Given the description of an element on the screen output the (x, y) to click on. 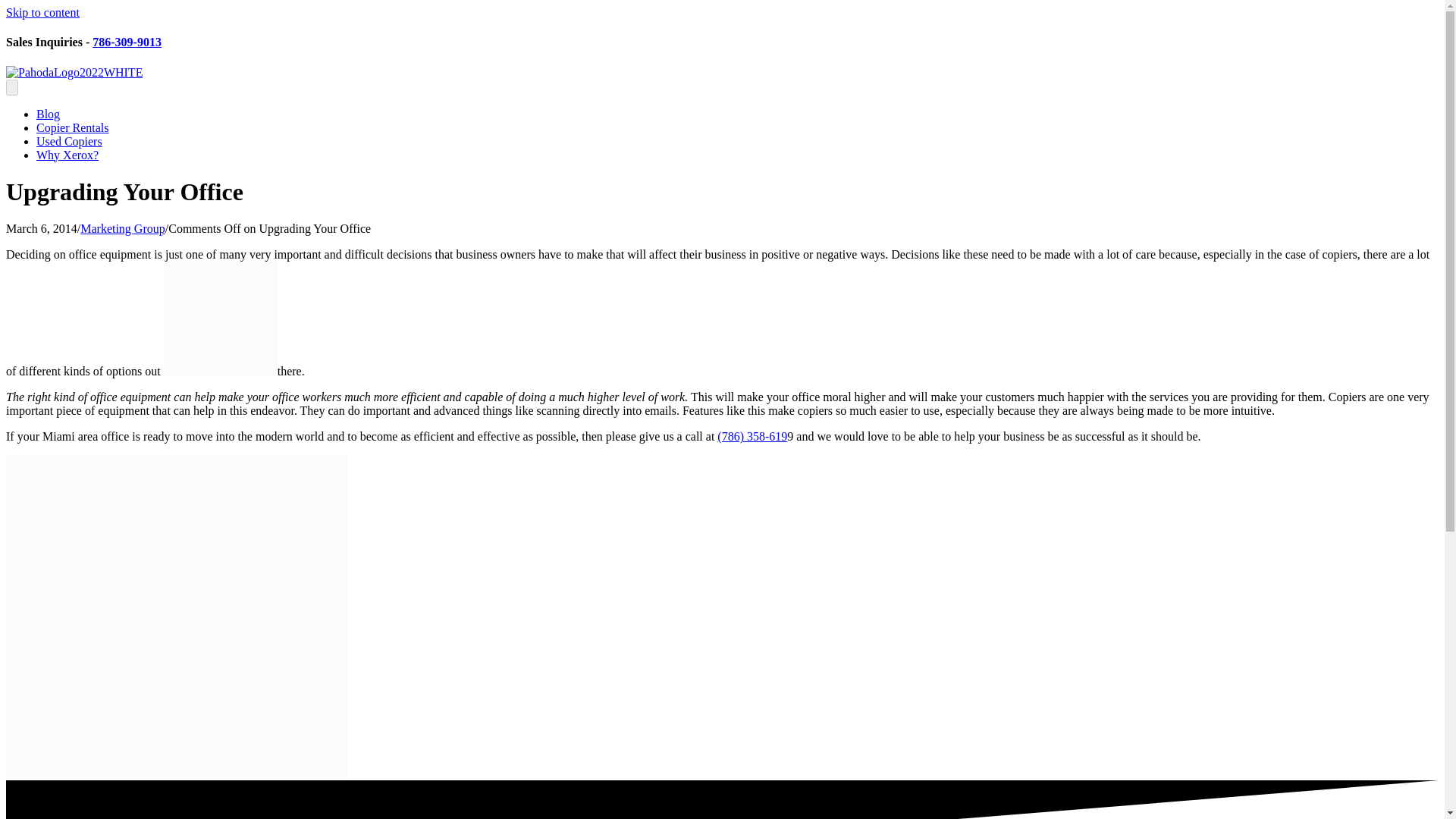
Why Xerox? (67, 154)
PahodaLogo2022WHITE (73, 72)
Used Copiers (68, 141)
786-309-9013 (127, 42)
Blog (47, 113)
Skip to content (42, 11)
Copier Rentals (72, 127)
big-Pahoda-C405-Ad-1.19.22 (176, 616)
Marketing Group (122, 228)
